Given the description of an element on the screen output the (x, y) to click on. 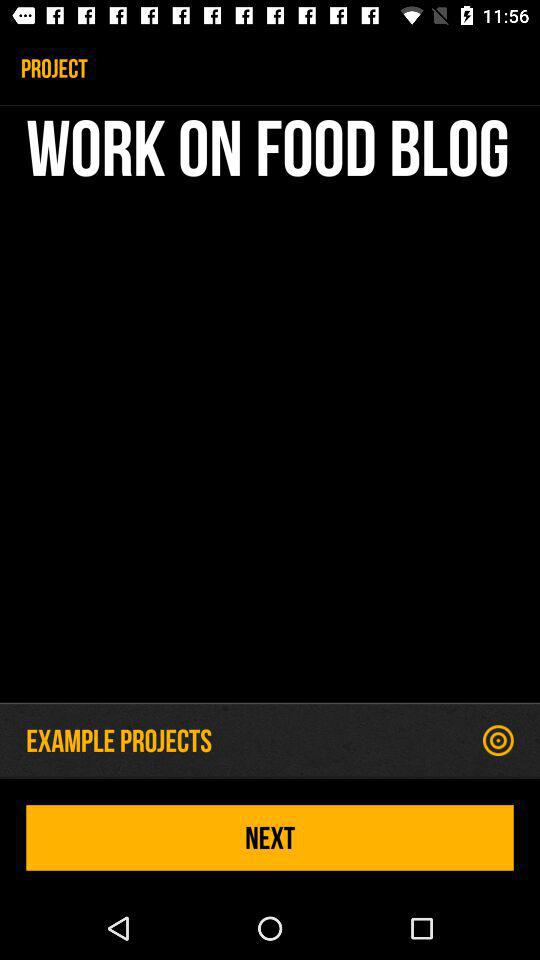
turn on work on food (269, 407)
